Given the description of an element on the screen output the (x, y) to click on. 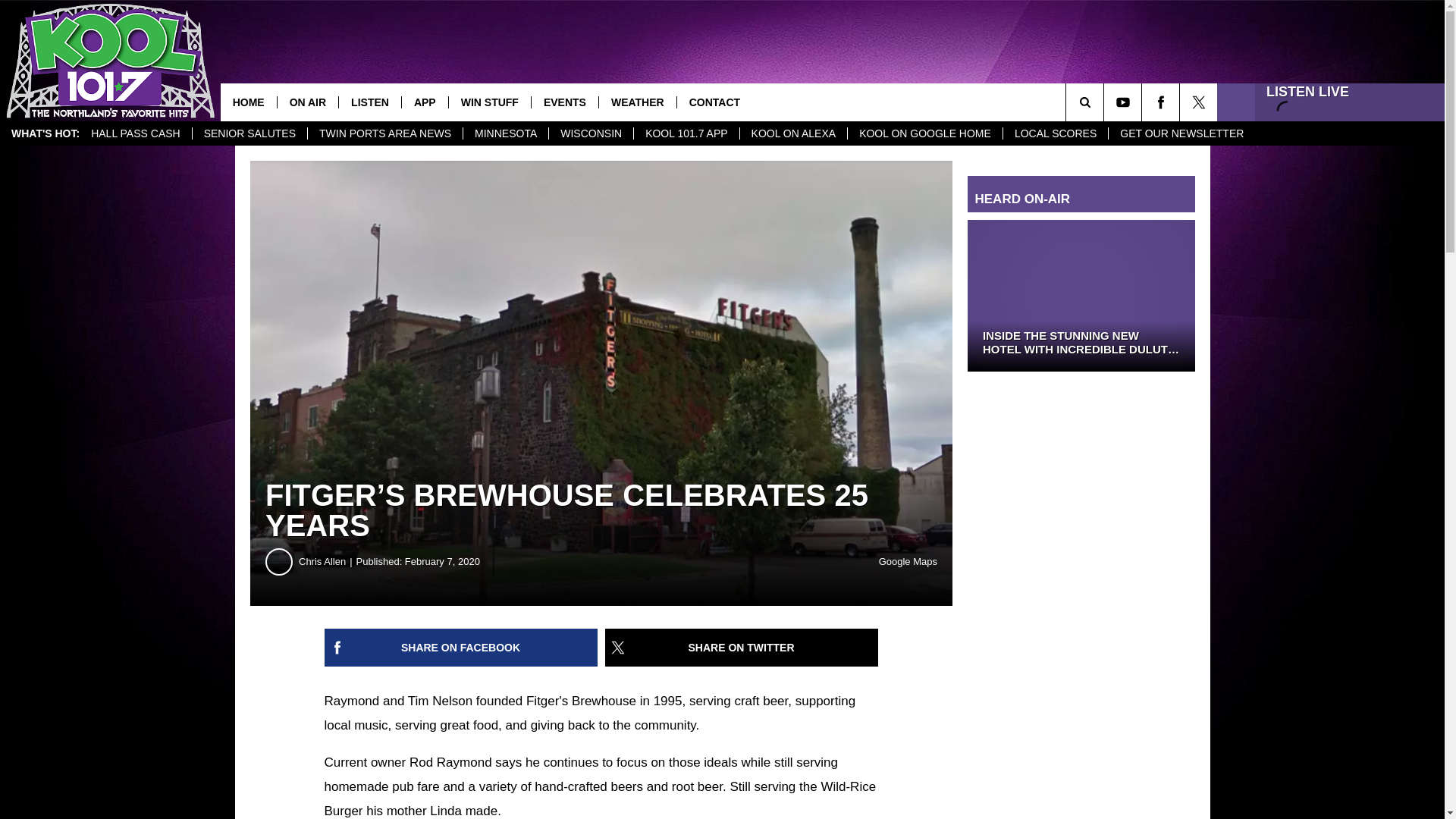
KOOL 101.7 APP (685, 133)
LOCAL SCORES (1055, 133)
APP (424, 102)
SENIOR SALUTES (249, 133)
LISTEN (369, 102)
SEARCH (1106, 102)
Share on Twitter (741, 647)
WEATHER (637, 102)
GET OUR NEWSLETTER (1181, 133)
TWIN PORTS AREA NEWS (385, 133)
